Given the description of an element on the screen output the (x, y) to click on. 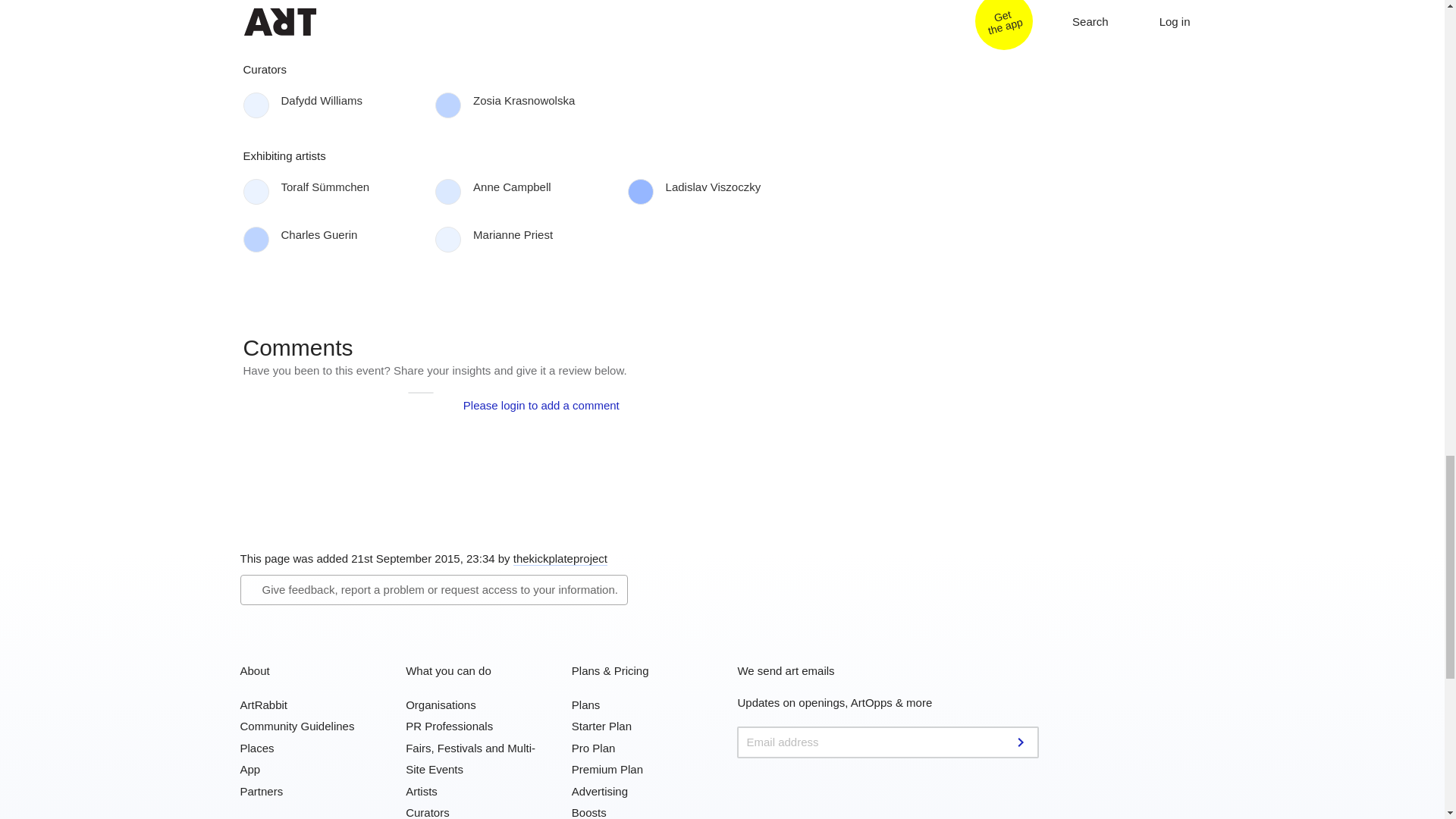
submit (1021, 742)
